Given the description of an element on the screen output the (x, y) to click on. 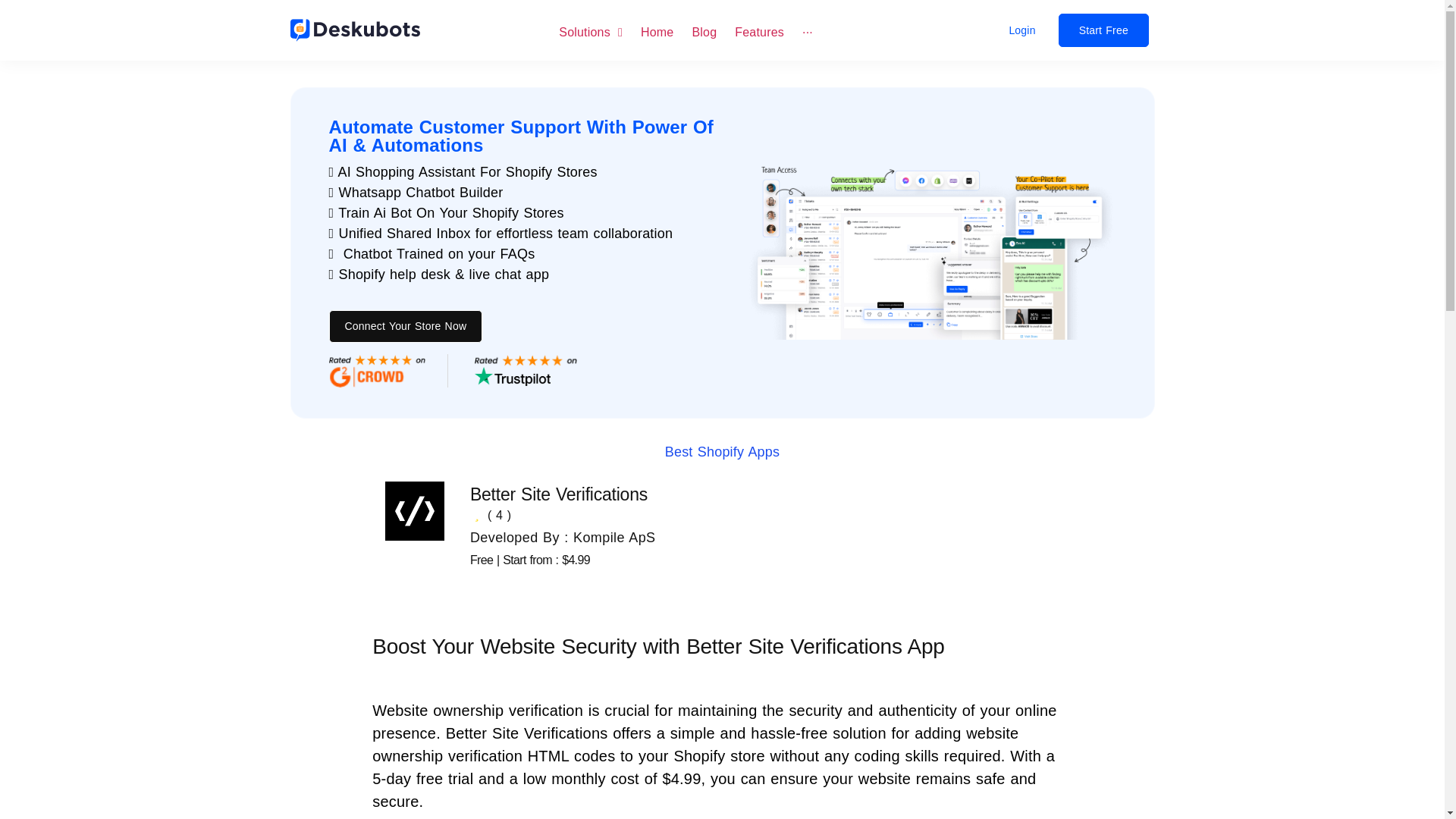
Solutions (591, 31)
Best Shopify Apps (722, 451)
Connect Your Store Now (406, 326)
Start Free (1103, 29)
Login (1022, 30)
Blog (703, 31)
Home (656, 31)
Features (759, 31)
